Given the description of an element on the screen output the (x, y) to click on. 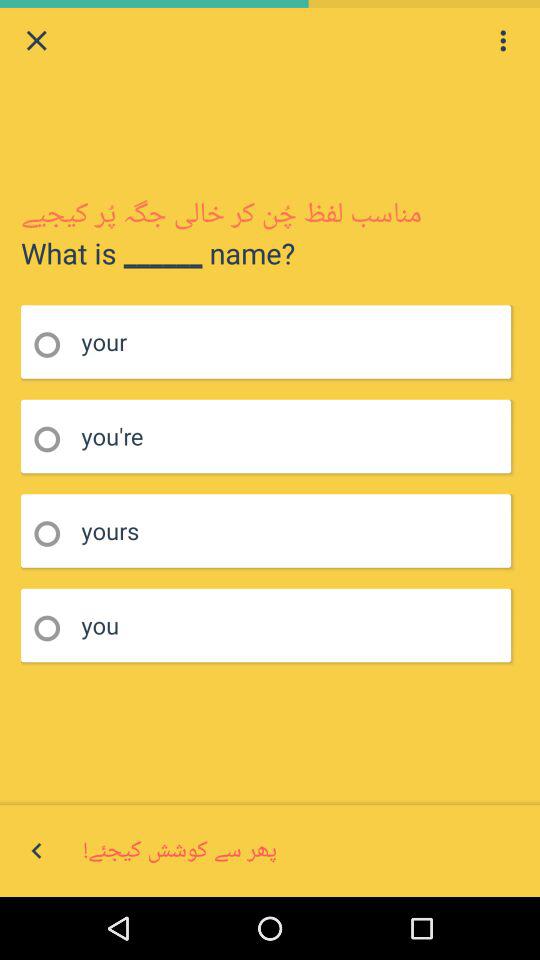
highlights an option (53, 344)
